Given the description of an element on the screen output the (x, y) to click on. 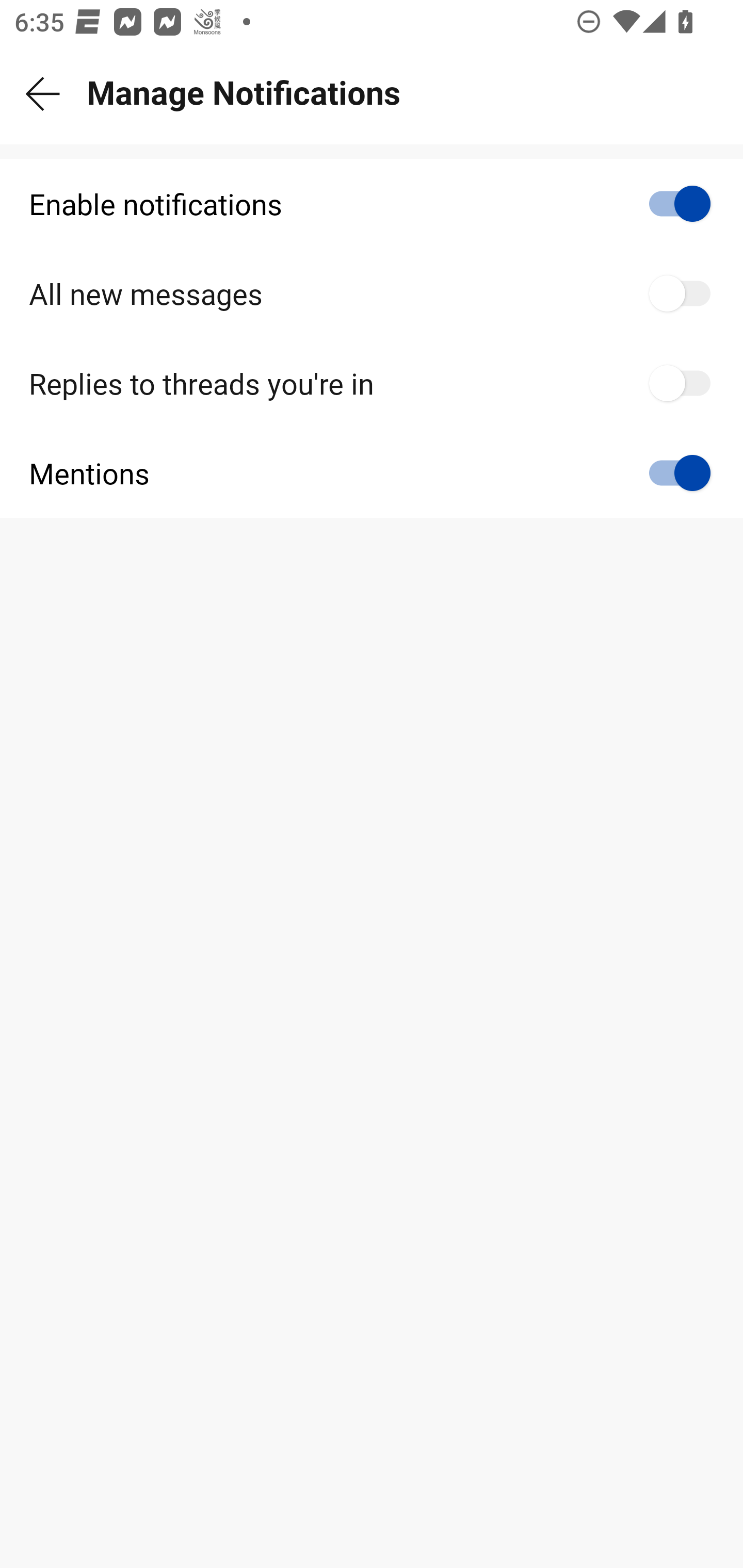
Back (43, 93)
Enable notifications (371, 203)
All new messages (371, 293)
Replies to threads you're in (371, 383)
Mentions (371, 472)
